Given the description of an element on the screen output the (x, y) to click on. 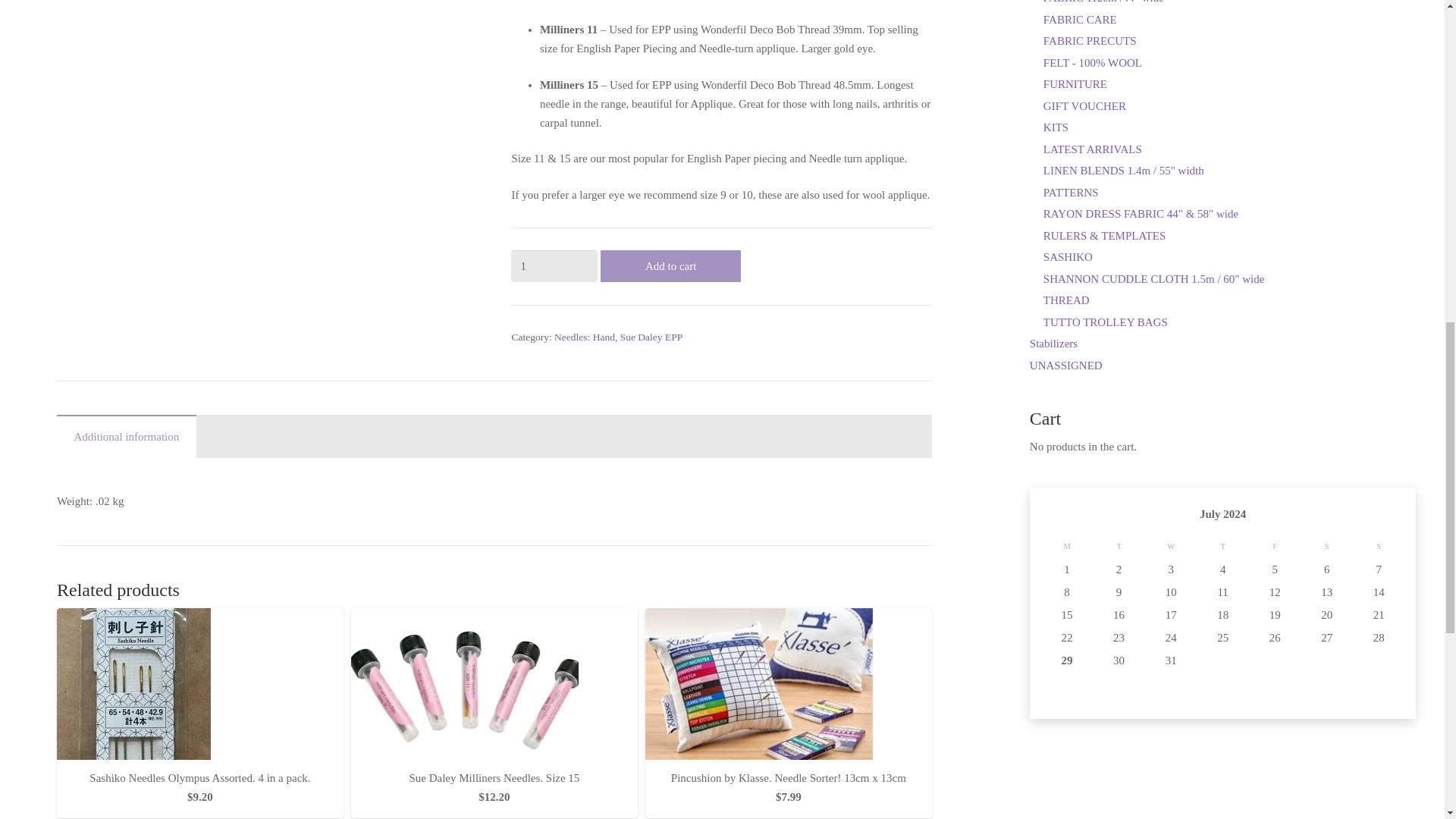
Pincushion by Klasse. Needle Sorter! 13cm x 13cm (788, 777)
Sue Daley Milliners Needles. Size 15 (494, 777)
Additional information (493, 462)
Thursday (126, 435)
Sunday (1222, 546)
Tuesday (1378, 546)
1 (1118, 546)
Sashiko Needles Olympus Assorted. 4 in a pack. (553, 265)
Needles: Hand (199, 777)
Wednesday (584, 337)
Back to top (1170, 546)
Add to cart (1413, 26)
Friday (670, 265)
Saturday (1275, 546)
